Given the description of an element on the screen output the (x, y) to click on. 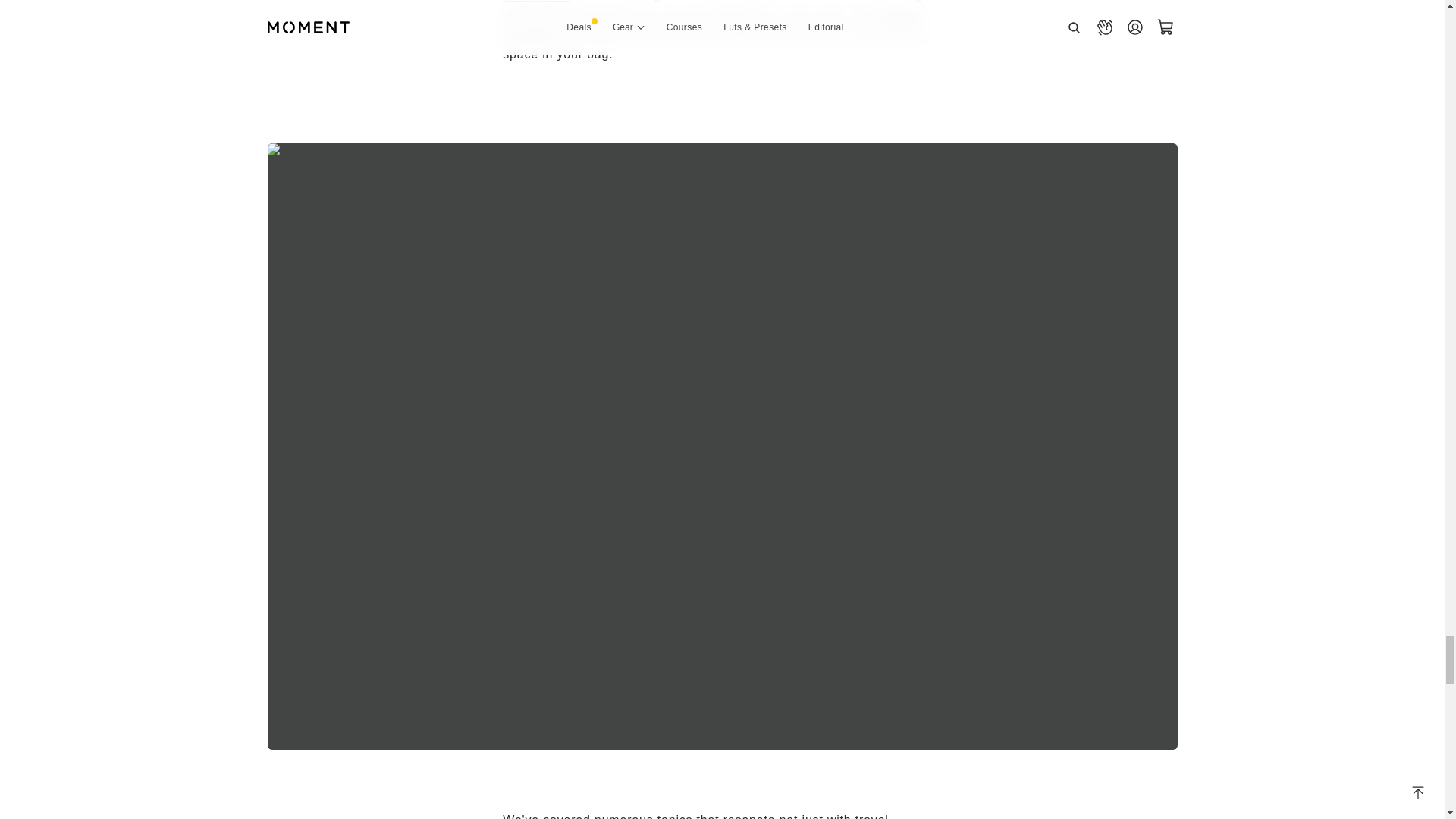
Sandisk Extreme Pro (713, 24)
sturdy SSD (536, 0)
